Given the description of an element on the screen output the (x, y) to click on. 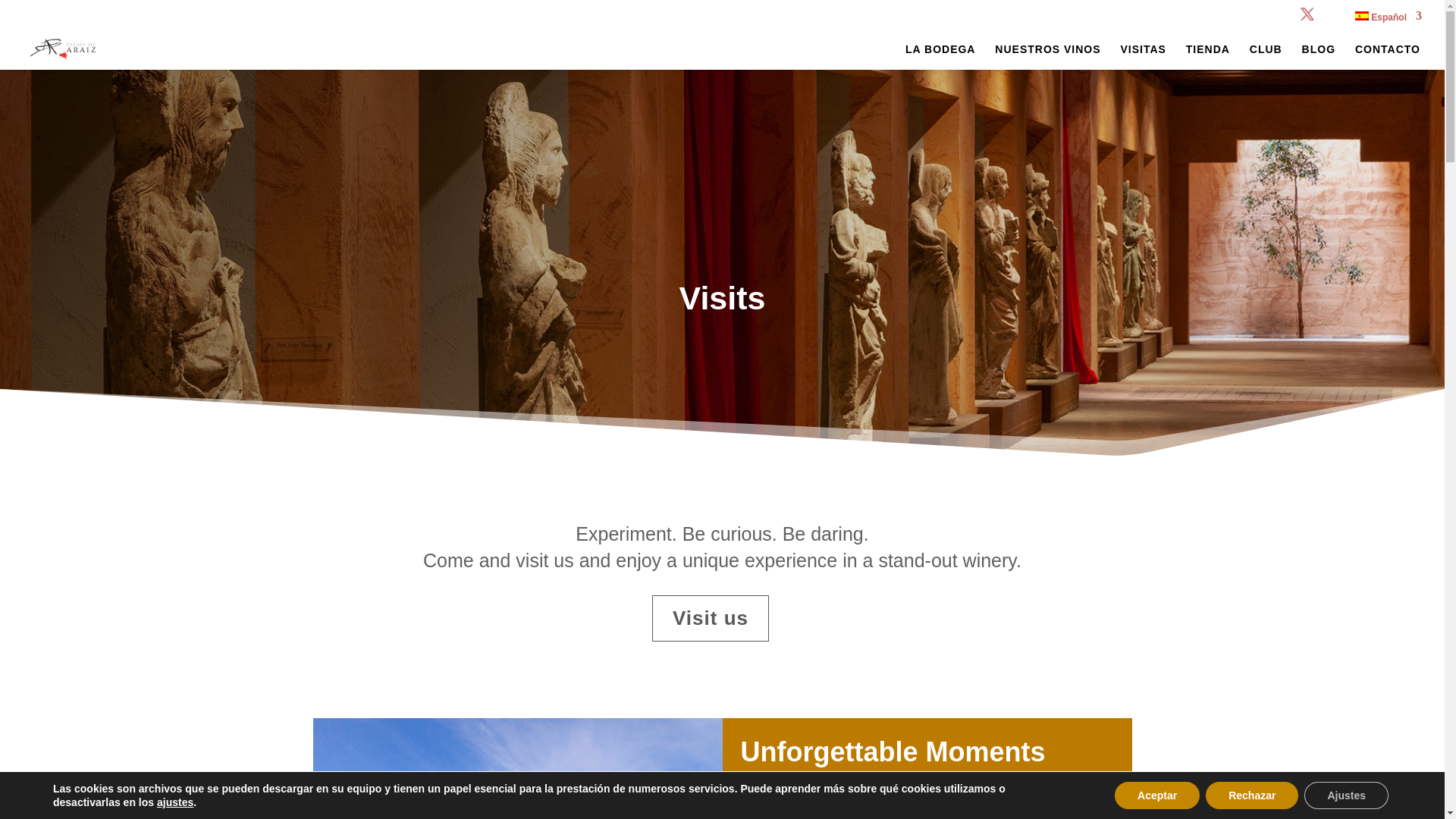
NUESTROS VINOS (1047, 56)
VISITAS (1143, 56)
CONTACTO (1388, 56)
CLUB (1265, 56)
TIENDA (1208, 56)
LA BODEGA (940, 56)
BLOG (1318, 56)
Visit us (710, 618)
